Given the description of an element on the screen output the (x, y) to click on. 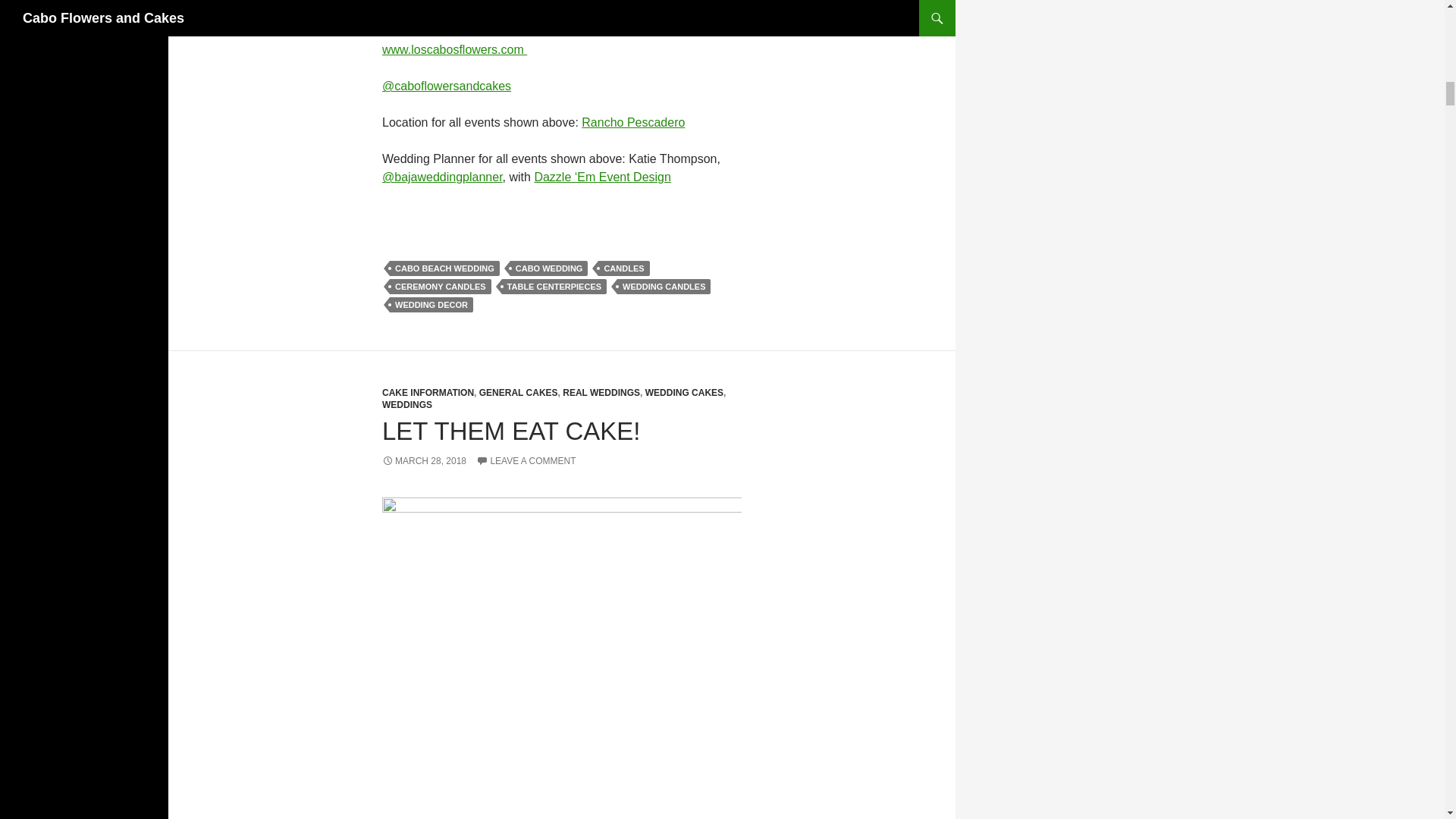
WEDDING CANDLES (663, 286)
CABO BEACH WEDDING (444, 268)
LEAVE A COMMENT (525, 460)
www.loscabosflowers.com  (561, 38)
WEDDING DECOR (431, 304)
CAKE INFORMATION (427, 392)
CANDLES (623, 268)
MARCH 28, 2018 (423, 460)
GENERAL CAKES (518, 392)
REAL WEDDINGS (601, 392)
